Given the description of an element on the screen output the (x, y) to click on. 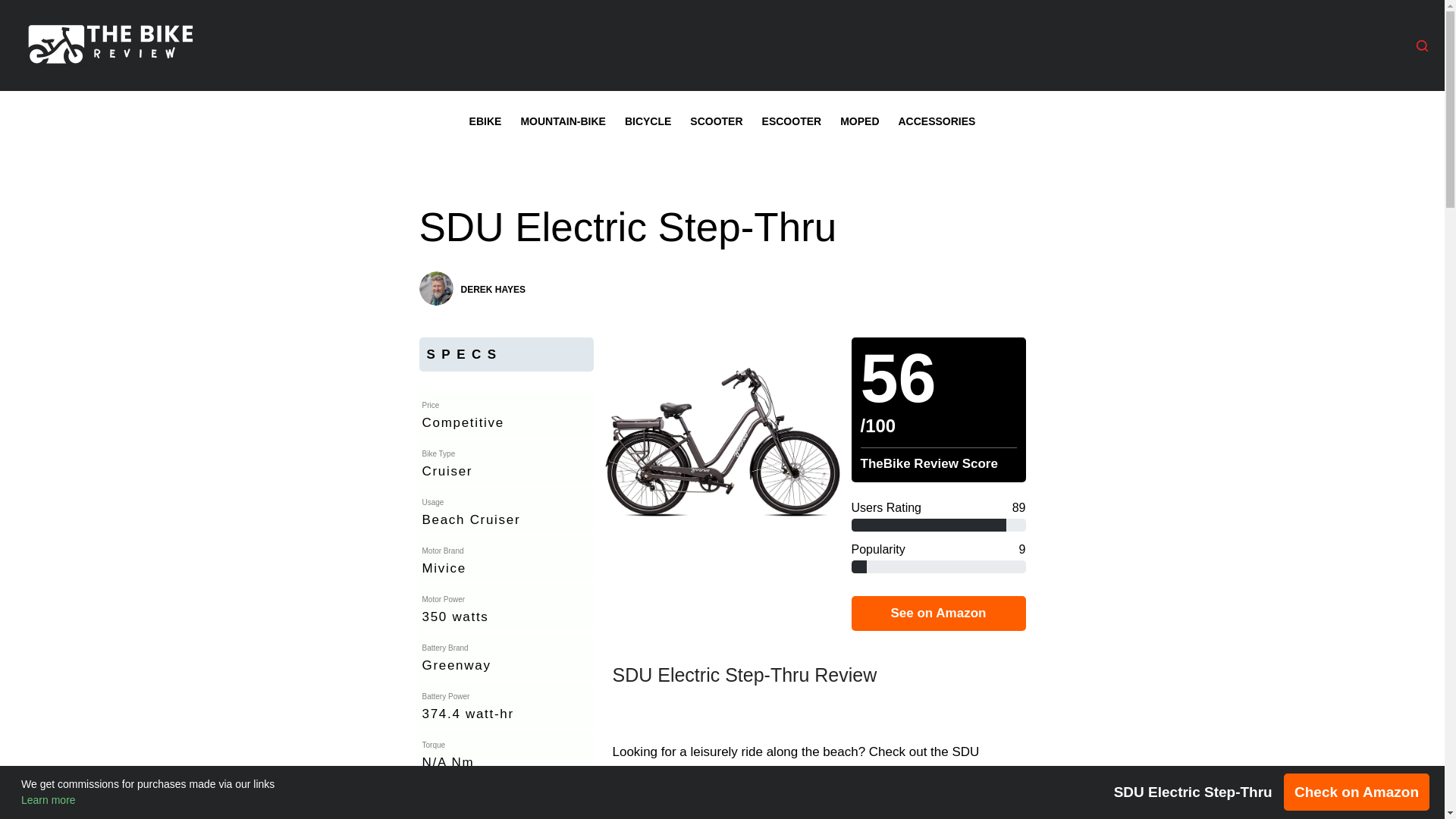
MOPED (859, 120)
SDU Electric Step-Thru (722, 227)
ACCESSORIES (936, 120)
MOUNTAIN-BIKE (563, 120)
BICYCLE (646, 120)
See on Amazon (937, 613)
SCOOTER (716, 120)
Learn more (48, 799)
ESCOOTER (791, 120)
Posts by Derek Hayes (493, 288)
